Given the description of an element on the screen output the (x, y) to click on. 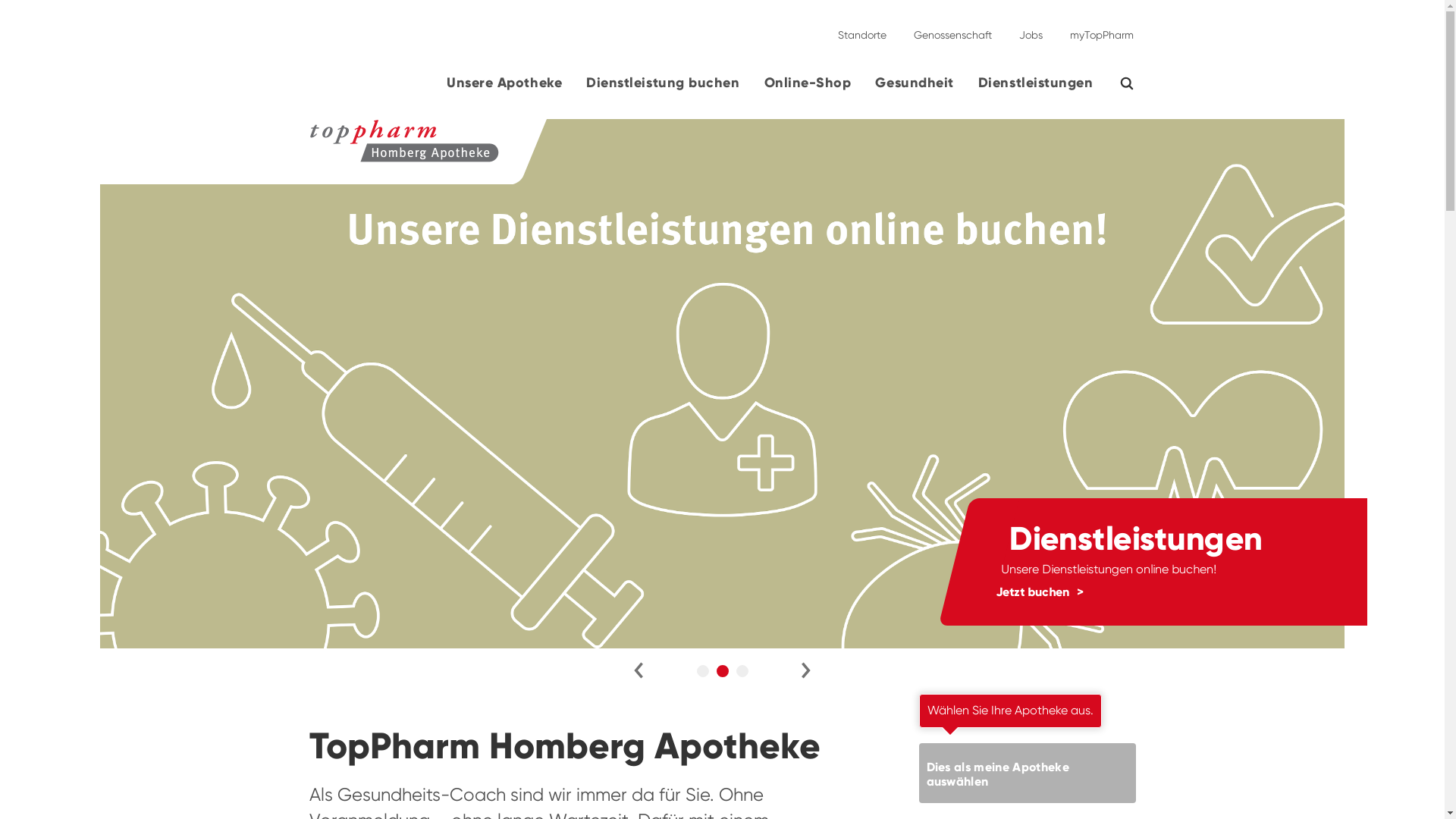
Unsere Apotheke Element type: text (504, 88)
TopPharm Homberg Apotheke - Beinwil a. See Element type: text (250, 151)
TopPharm Homberg Apotheke - Beinwil a. See Element type: hover (403, 141)
Online-Shop Element type: text (807, 88)
myTopPharm Element type: text (1096, 29)
Dienstleistung buchen Element type: text (662, 88)
Genossenschaft Element type: text (951, 29)
Gesundheit Element type: text (913, 88)
Suche Element type: text (1135, 82)
Dienstleistungen Element type: text (1035, 88)
Standorte Element type: text (861, 29)
Jobs Element type: text (1030, 29)
